Given the description of an element on the screen output the (x, y) to click on. 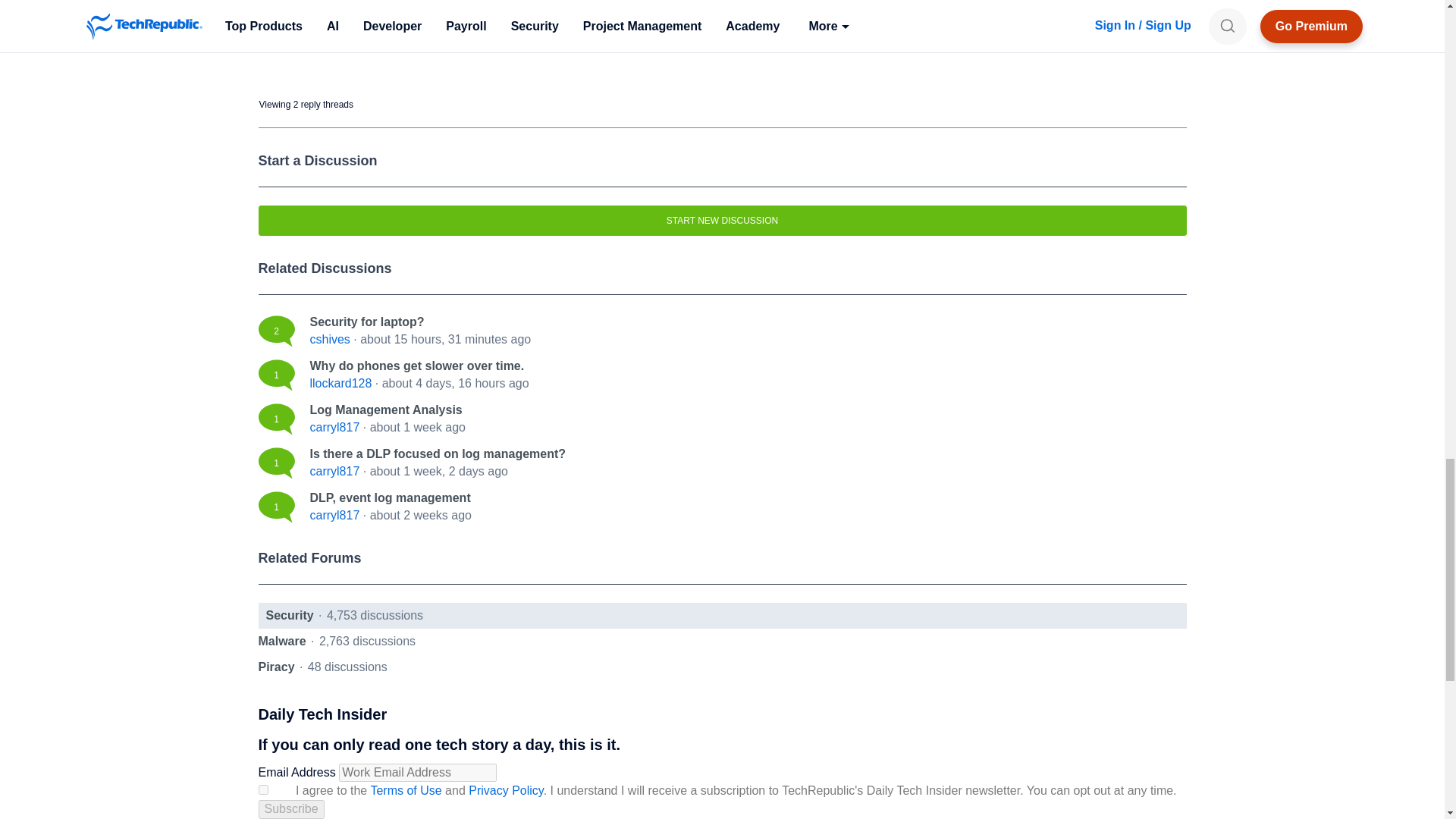
View carryl817's profile (333, 427)
View llockard128's profile (339, 382)
View carryl817's profile (333, 471)
View carryl817's profile (333, 514)
on (262, 789)
View cshives's profile (328, 338)
